Given the description of an element on the screen output the (x, y) to click on. 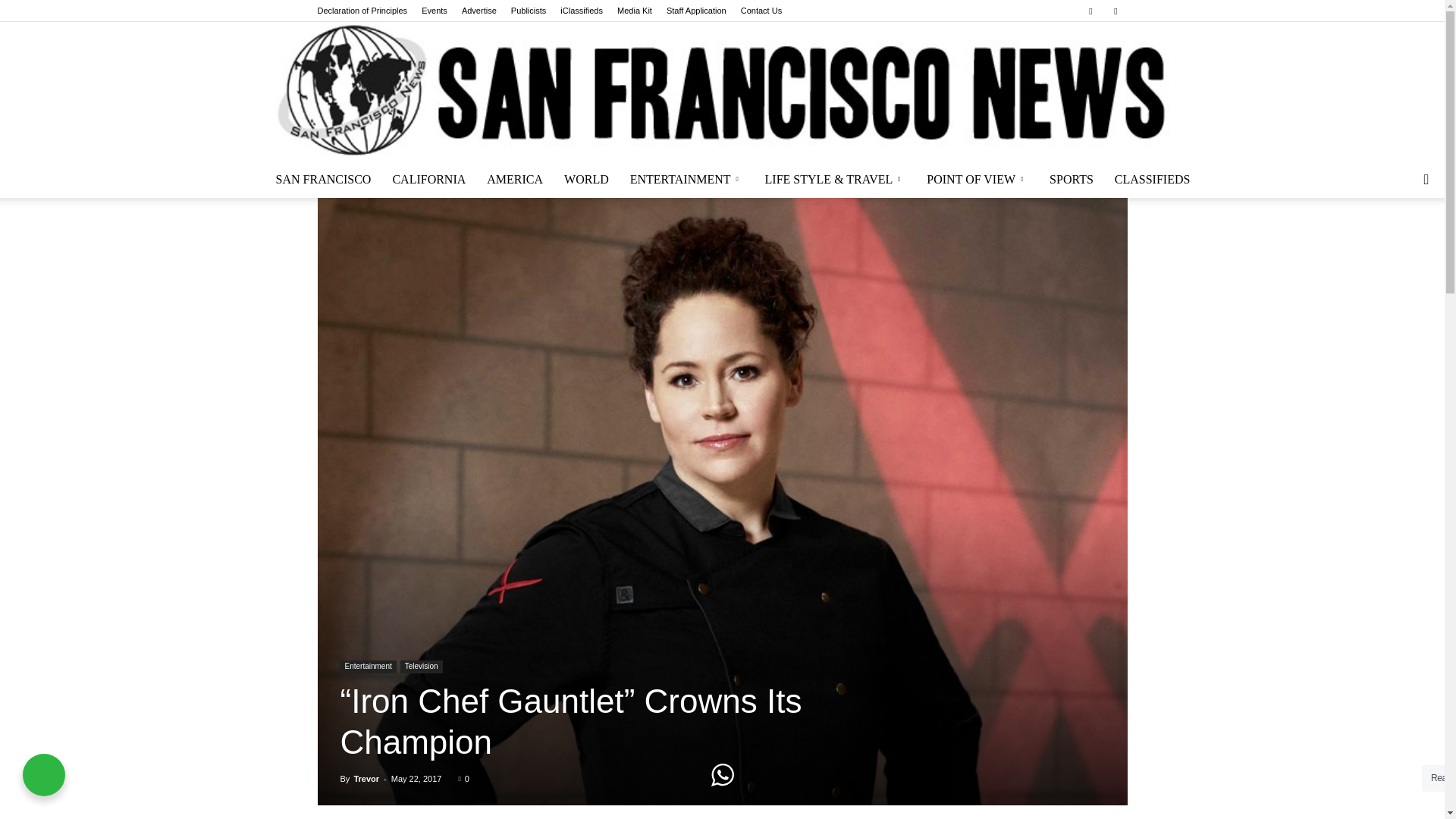
Twitter (1114, 10)
Publicists (528, 10)
Advertise (478, 10)
Staff Application (696, 10)
Events (434, 10)
Contact Us (761, 10)
iClassifieds (581, 10)
Media Kit (634, 10)
Facebook (1090, 10)
